Given the description of an element on the screen output the (x, y) to click on. 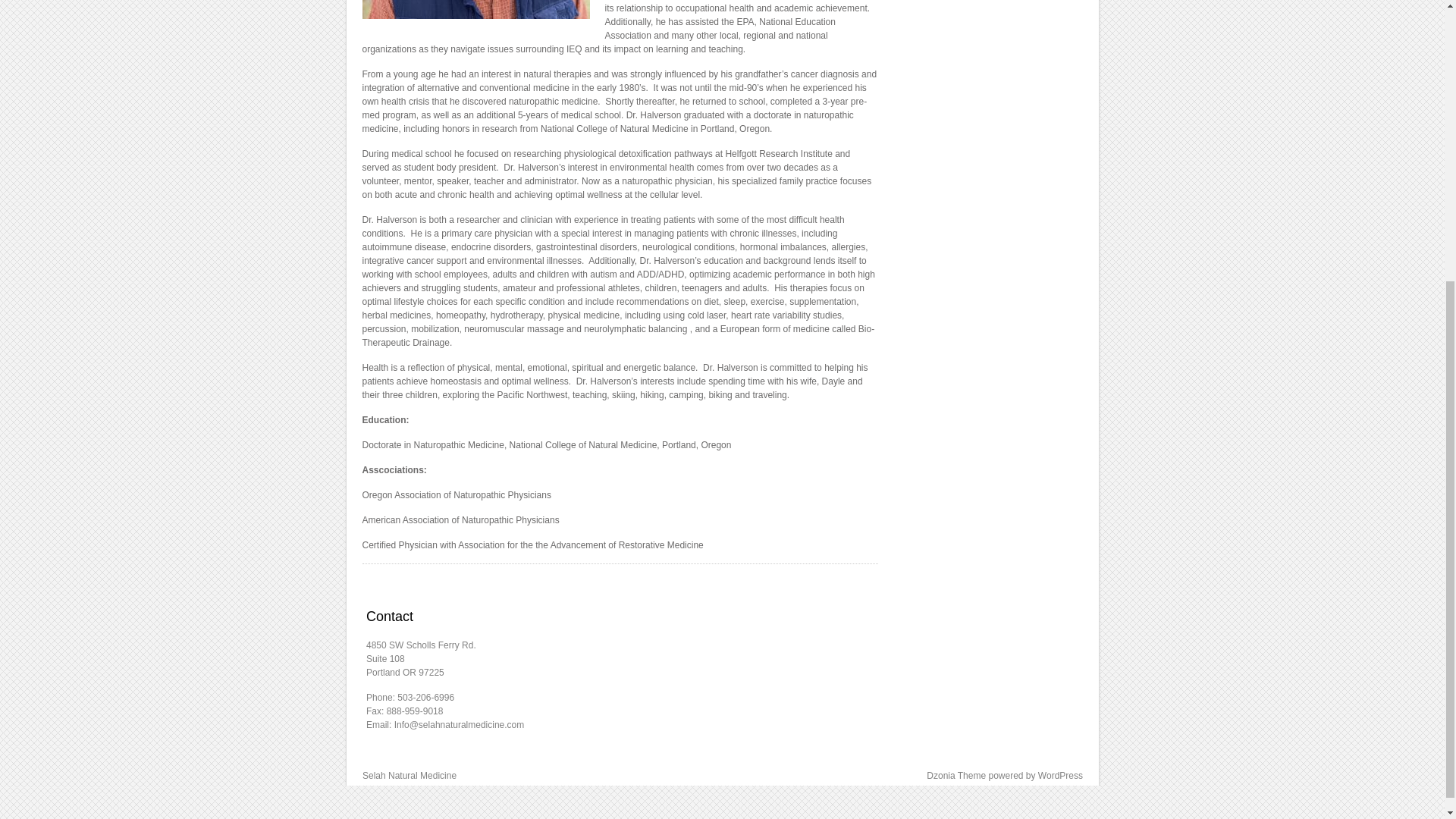
WordPress (1060, 775)
Dzonia Theme (955, 775)
